Given the description of an element on the screen output the (x, y) to click on. 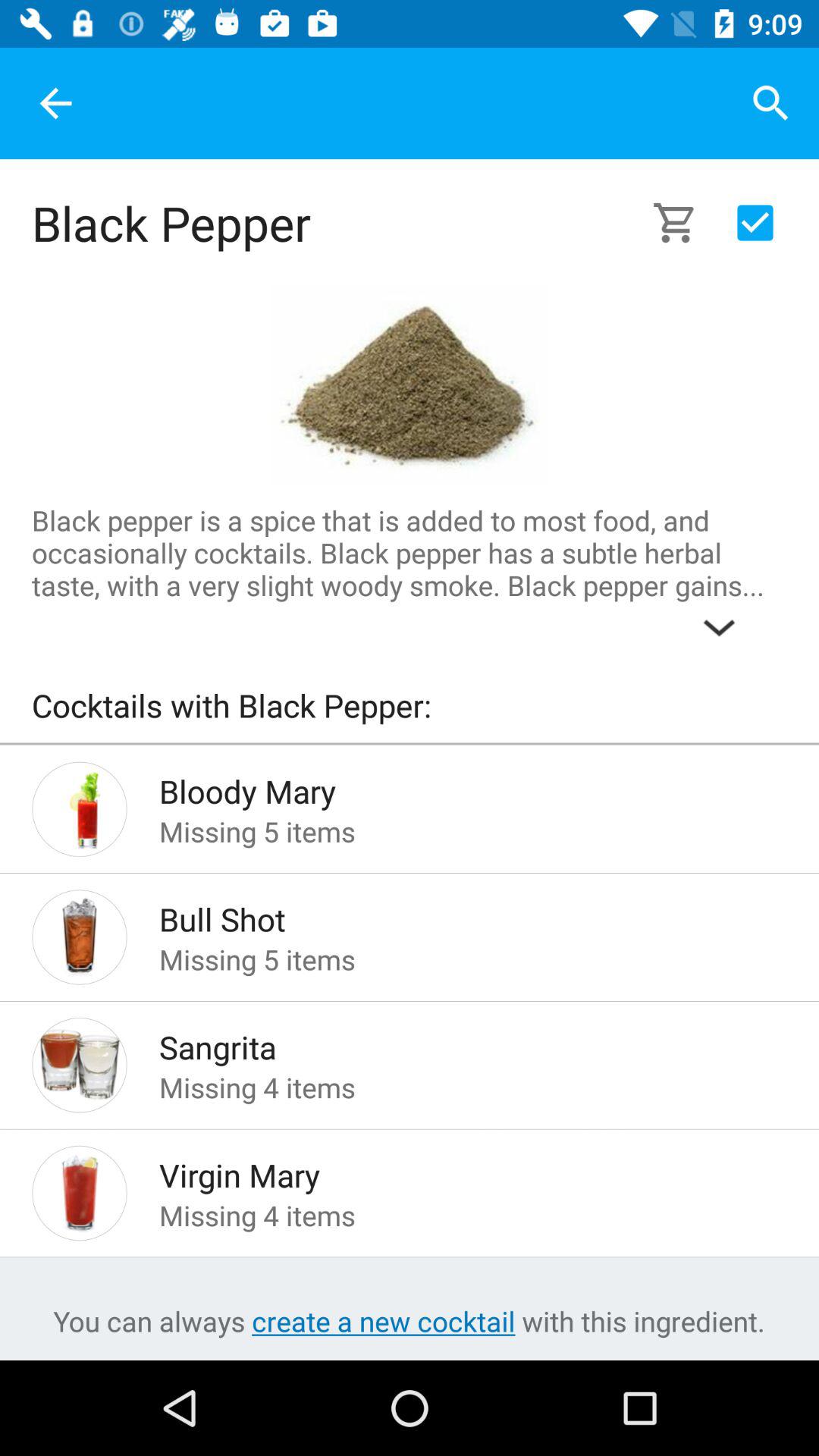
tap you can always icon (408, 1320)
